Given the description of an element on the screen output the (x, y) to click on. 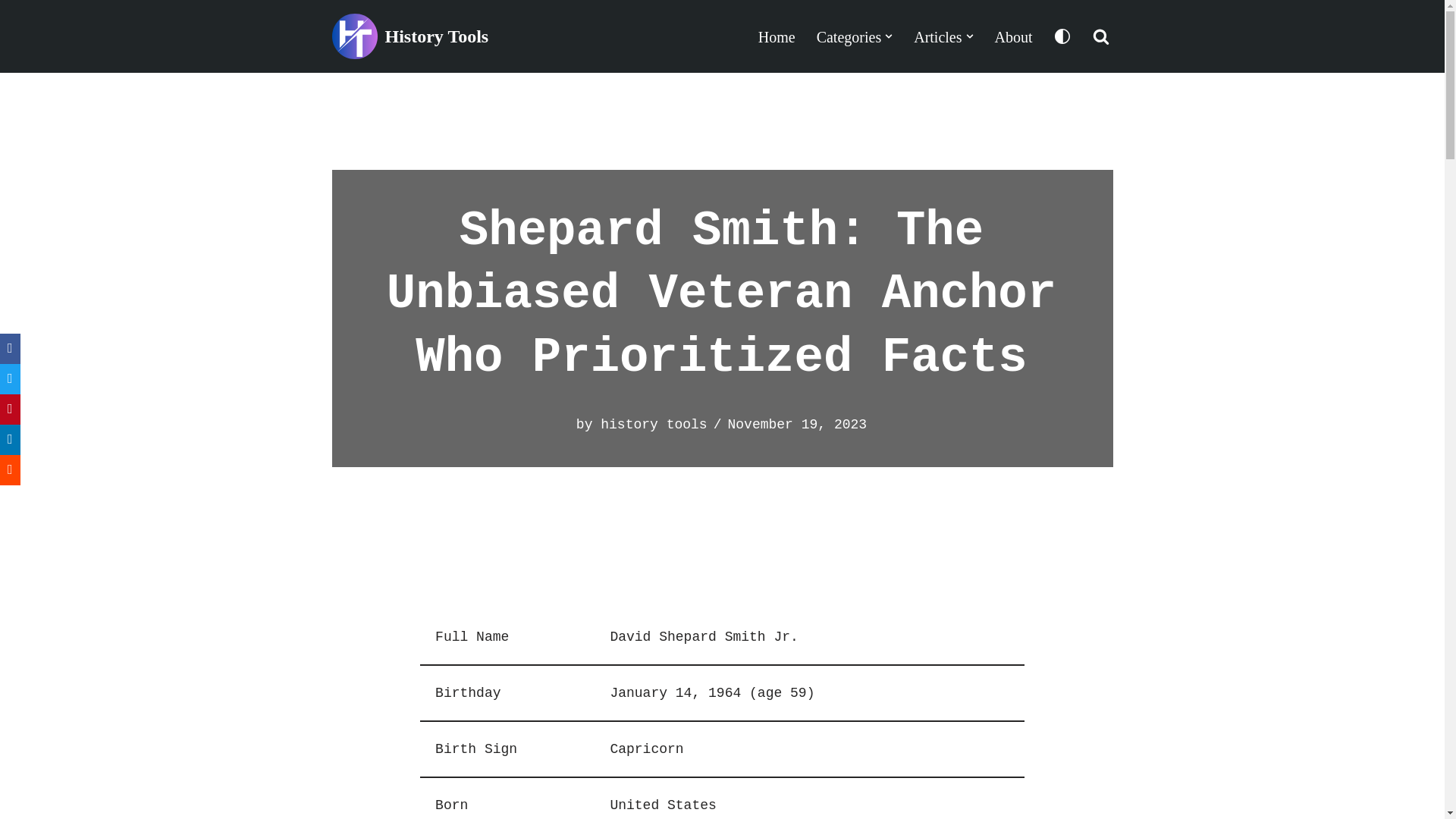
About (1013, 36)
History Tools (410, 35)
Skip to content (11, 31)
Categories (849, 36)
Posts by history tools (652, 424)
Home (776, 36)
Articles (937, 36)
